Given the description of an element on the screen output the (x, y) to click on. 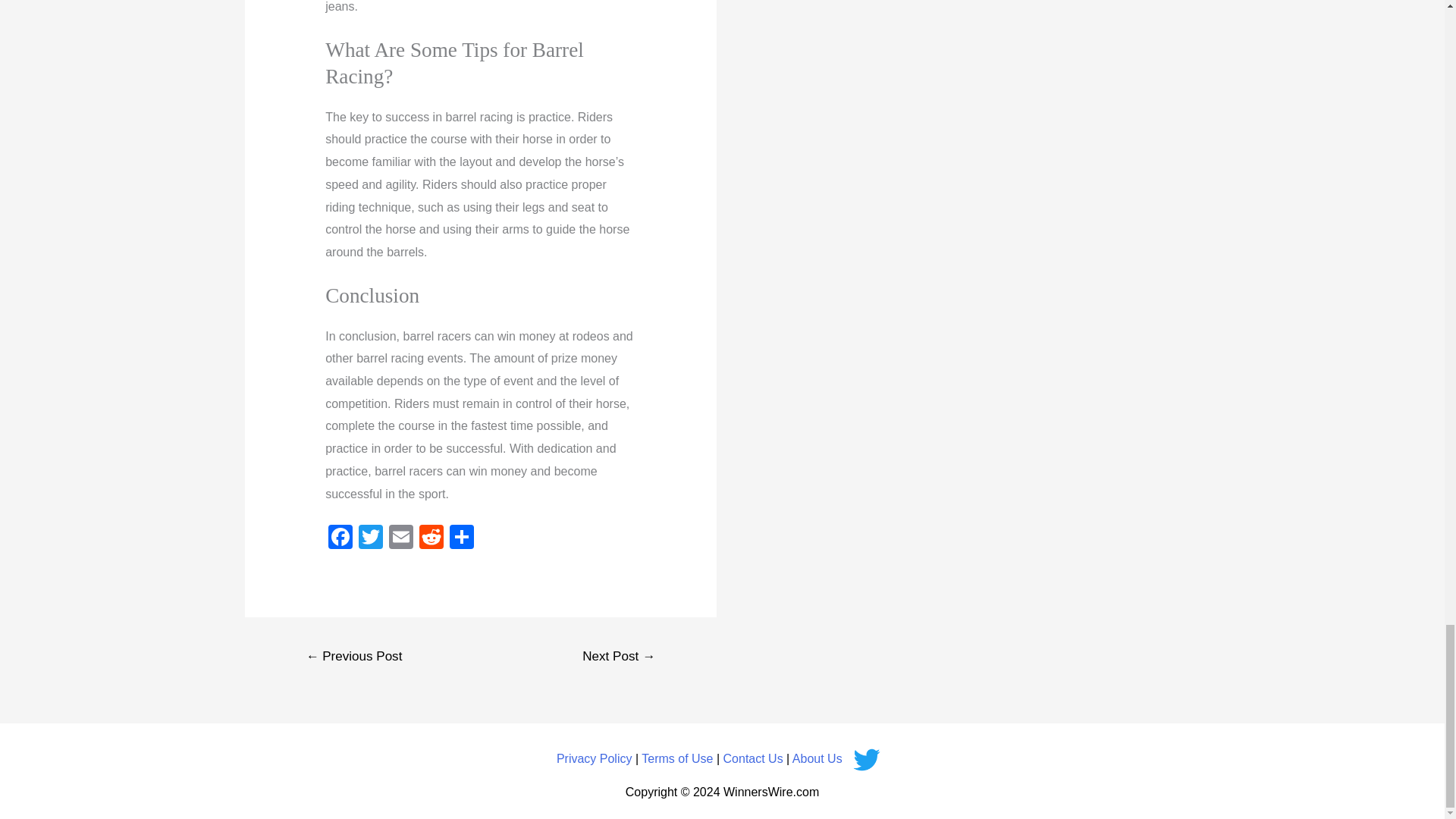
Twitter (370, 538)
Twitter (370, 538)
Email (400, 538)
Reddit (431, 538)
Email (400, 538)
Facebook (339, 538)
Facebook (339, 538)
Reddit (431, 538)
